Given the description of an element on the screen output the (x, y) to click on. 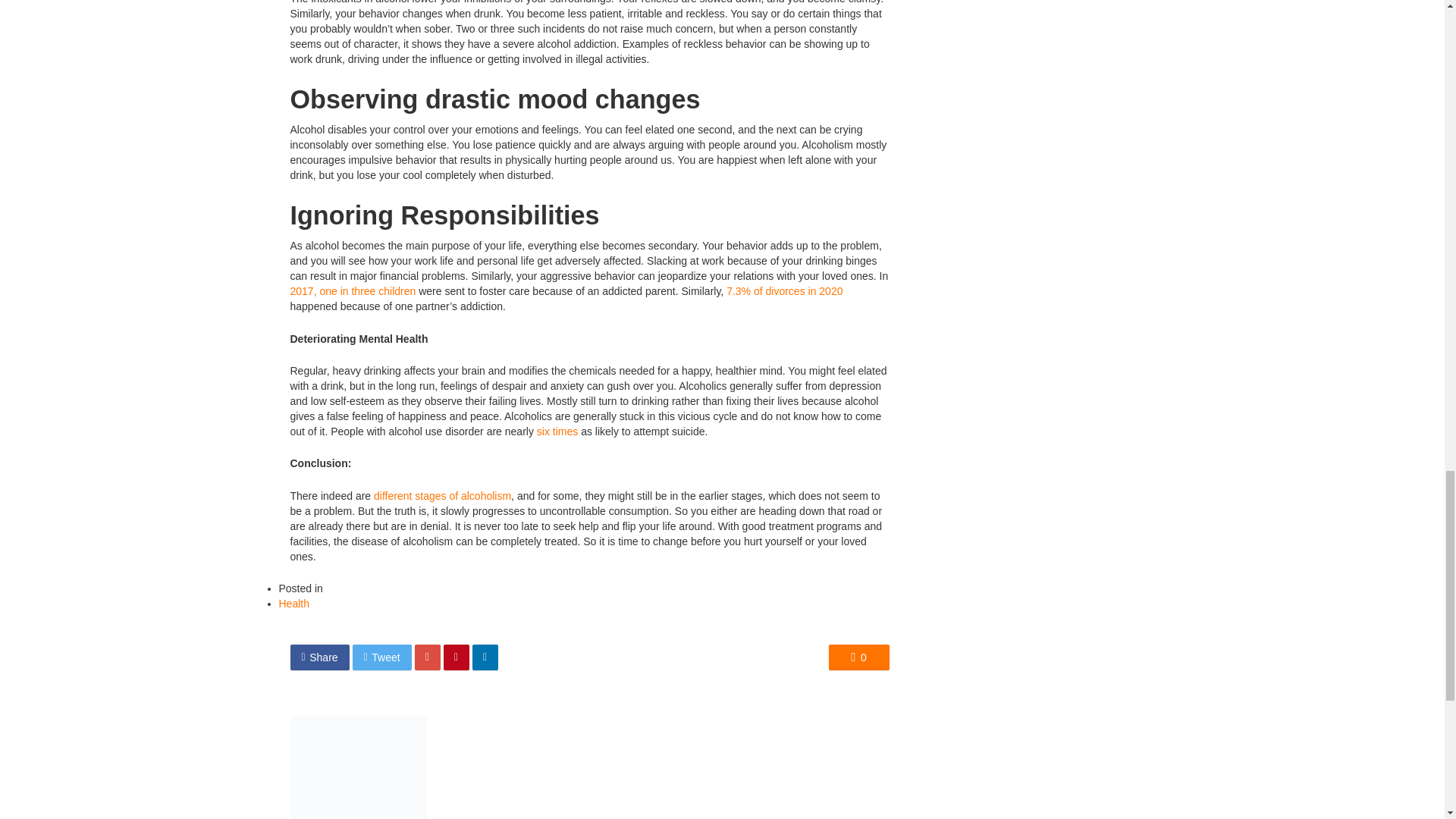
Share on Twitter (382, 657)
2017, one in three children (351, 291)
Share on Facebook (319, 657)
